Given the description of an element on the screen output the (x, y) to click on. 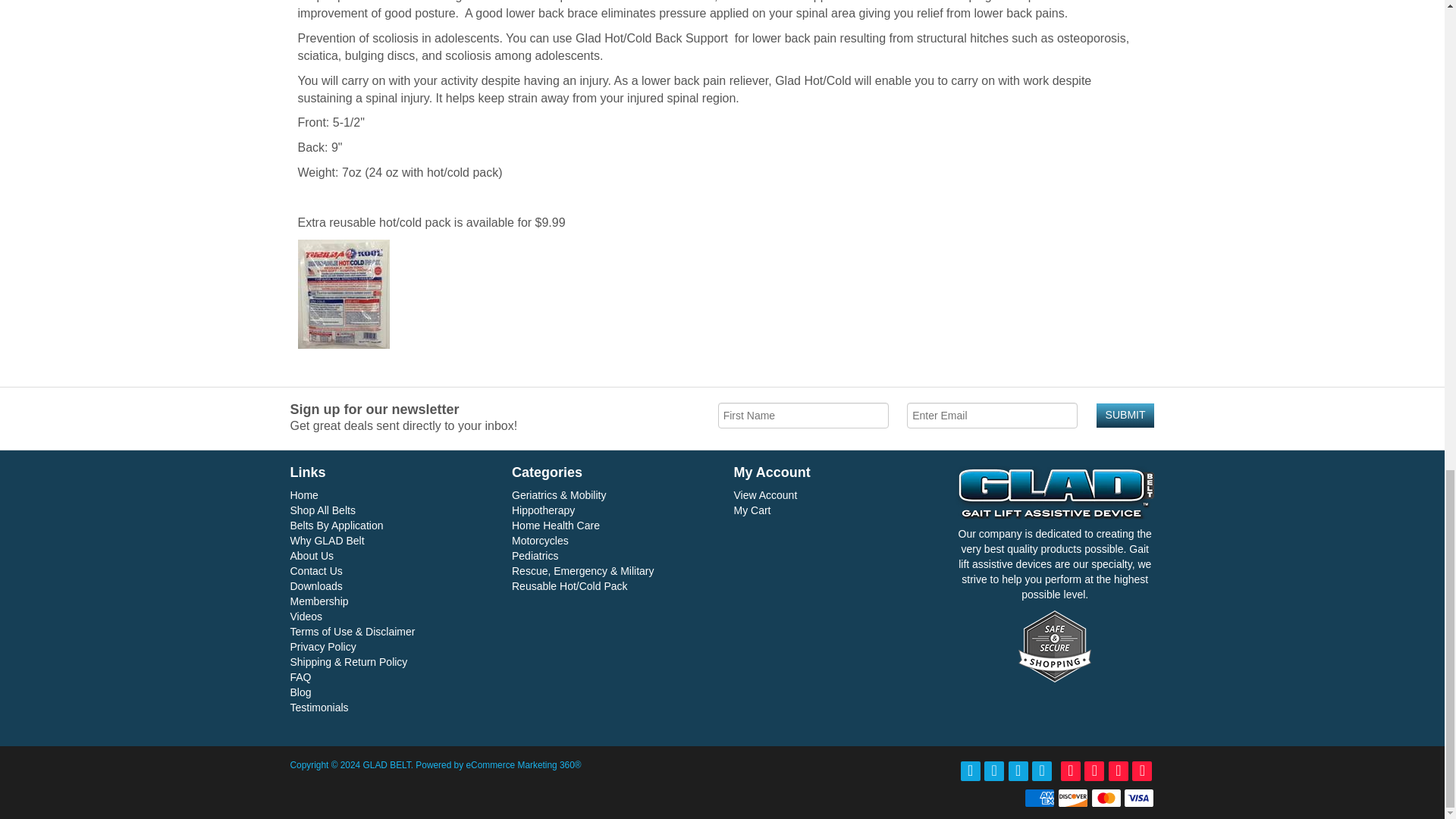
Shop All Belts (322, 510)
Why GLAD Belt (326, 540)
About Us (311, 555)
Contact Us (315, 571)
Home (303, 494)
Belts By Application (335, 525)
SUBMIT (1125, 415)
